Given the description of an element on the screen output the (x, y) to click on. 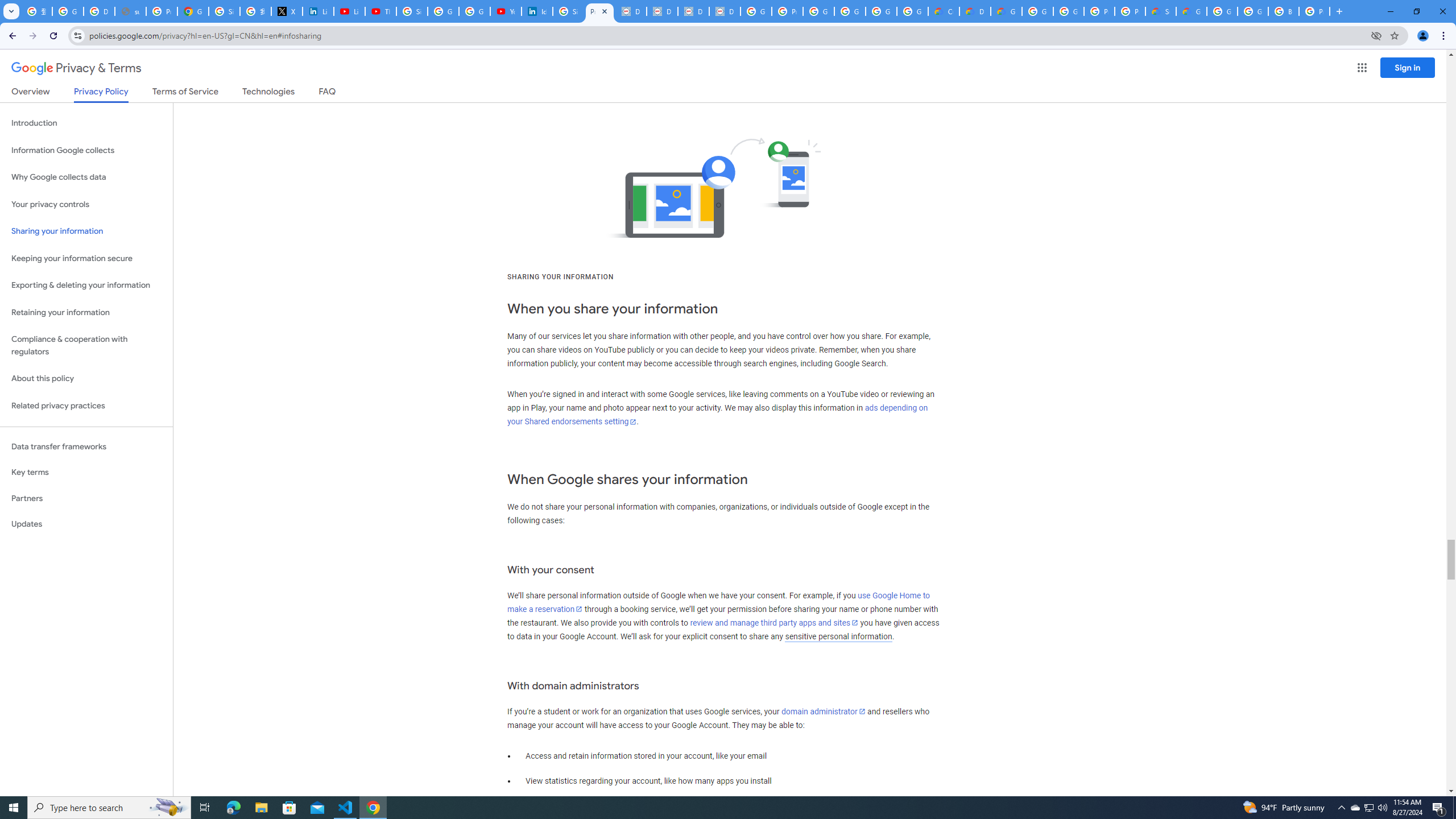
Privacy Help Center - Policies Help (161, 11)
